Given the description of an element on the screen output the (x, y) to click on. 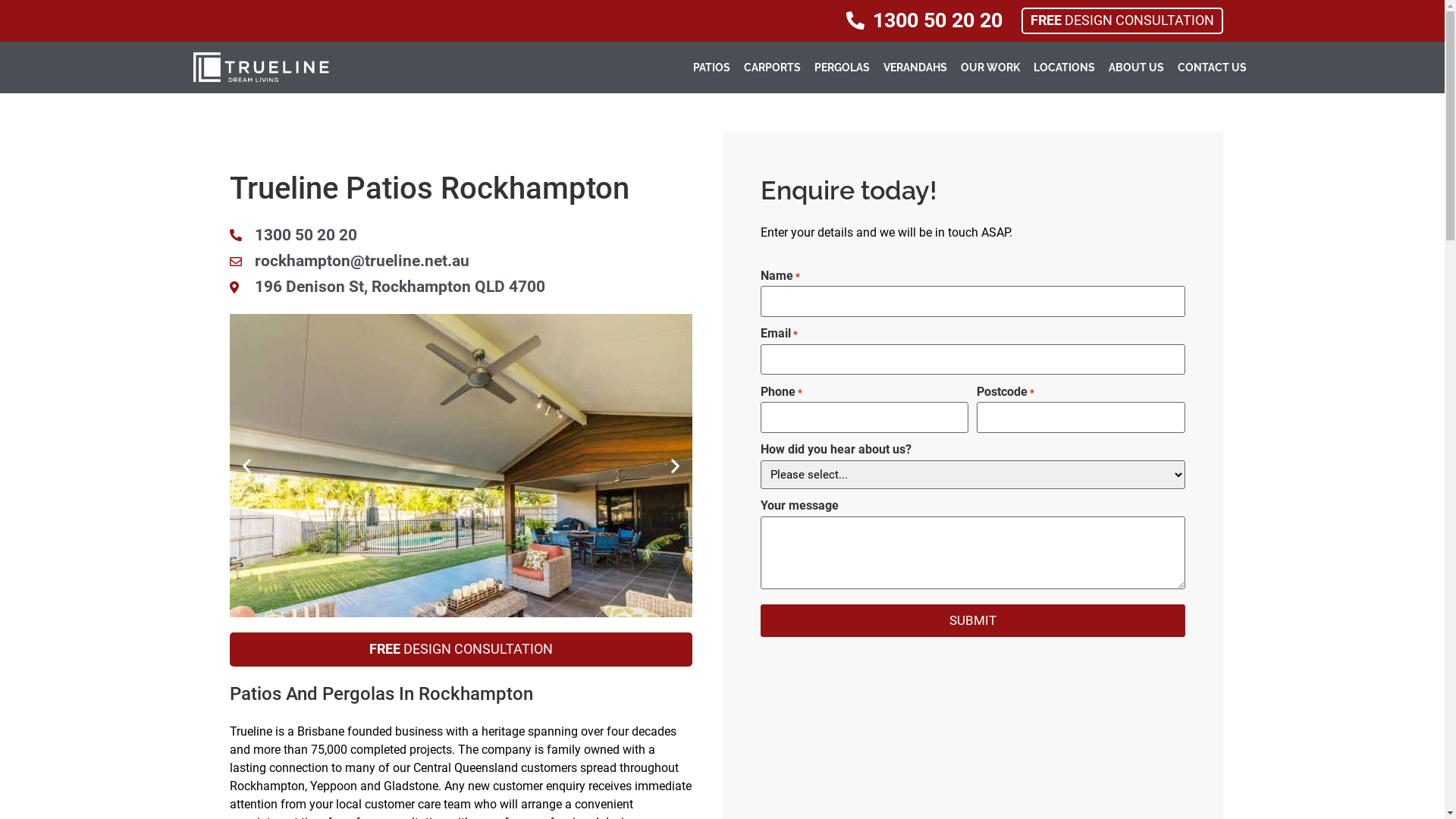
PATIOS Element type: text (710, 67)
1300 50 20 20 Element type: text (924, 20)
rockhampton@trueline.net.au Element type: text (460, 261)
LOCATIONS Element type: text (1063, 67)
1300 50 20 20 Element type: text (460, 235)
CONTACT US Element type: text (1211, 67)
CARPORTS Element type: text (772, 67)
196 Denison St, Rockhampton QLD 4700 Element type: text (460, 286)
OUR WORK Element type: text (989, 67)
FREE DESIGN CONSULTATION Element type: text (460, 649)
ABOUT US Element type: text (1135, 67)
Submit Element type: text (971, 620)
VERANDAHS Element type: text (914, 67)
FREE DESIGN CONSULTATION Element type: text (1121, 20)
PERGOLAS Element type: text (840, 67)
